Given the description of an element on the screen output the (x, y) to click on. 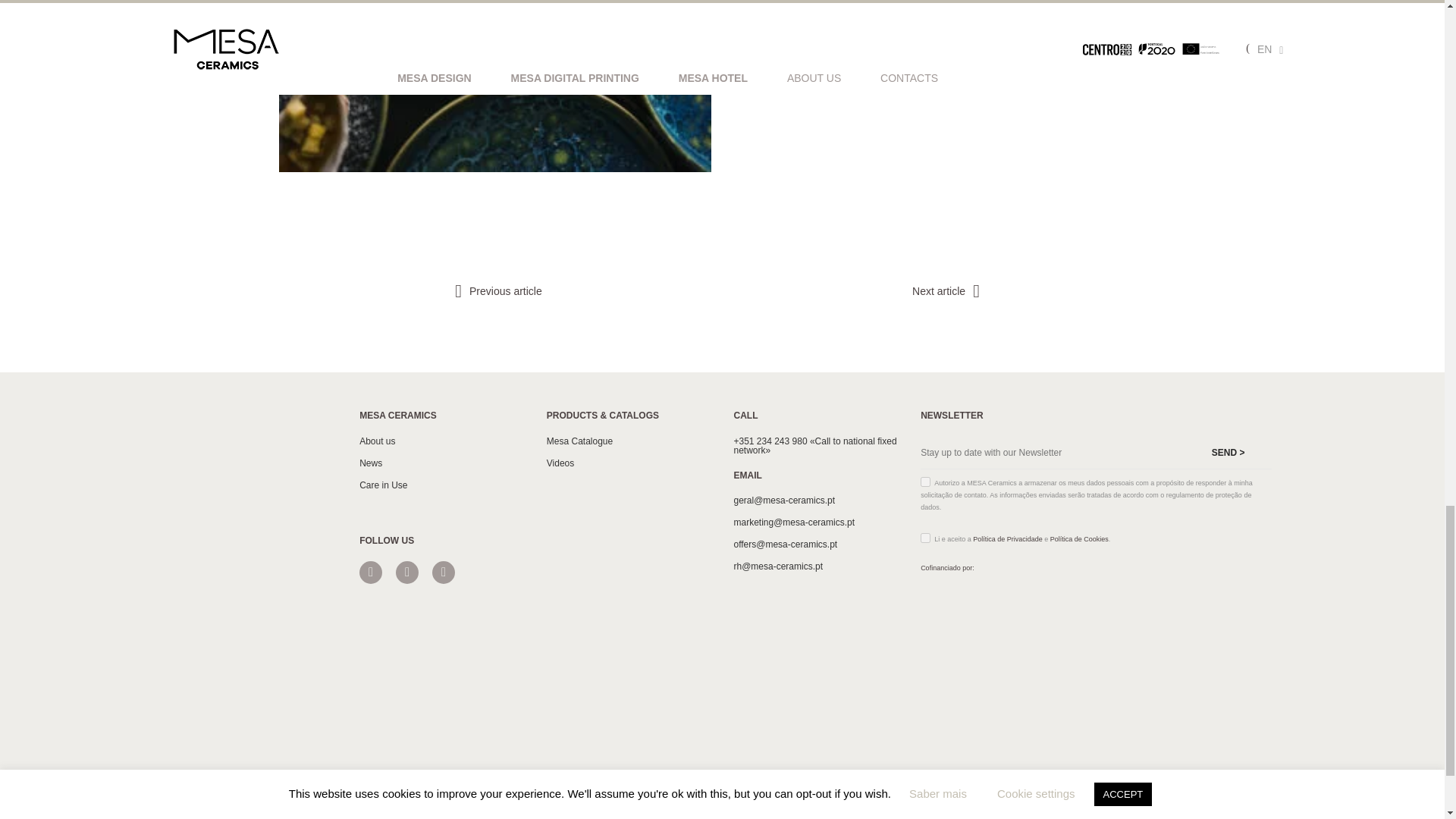
About us (441, 440)
Instagram (370, 572)
Enviar email (815, 500)
Next article (949, 290)
Care in Use (441, 484)
1 (925, 481)
Previous article (495, 290)
Facebook (407, 572)
News (441, 462)
1 (925, 537)
Mesa Catalogue (629, 440)
Videos (629, 462)
Linkedin (443, 572)
